Given the description of an element on the screen output the (x, y) to click on. 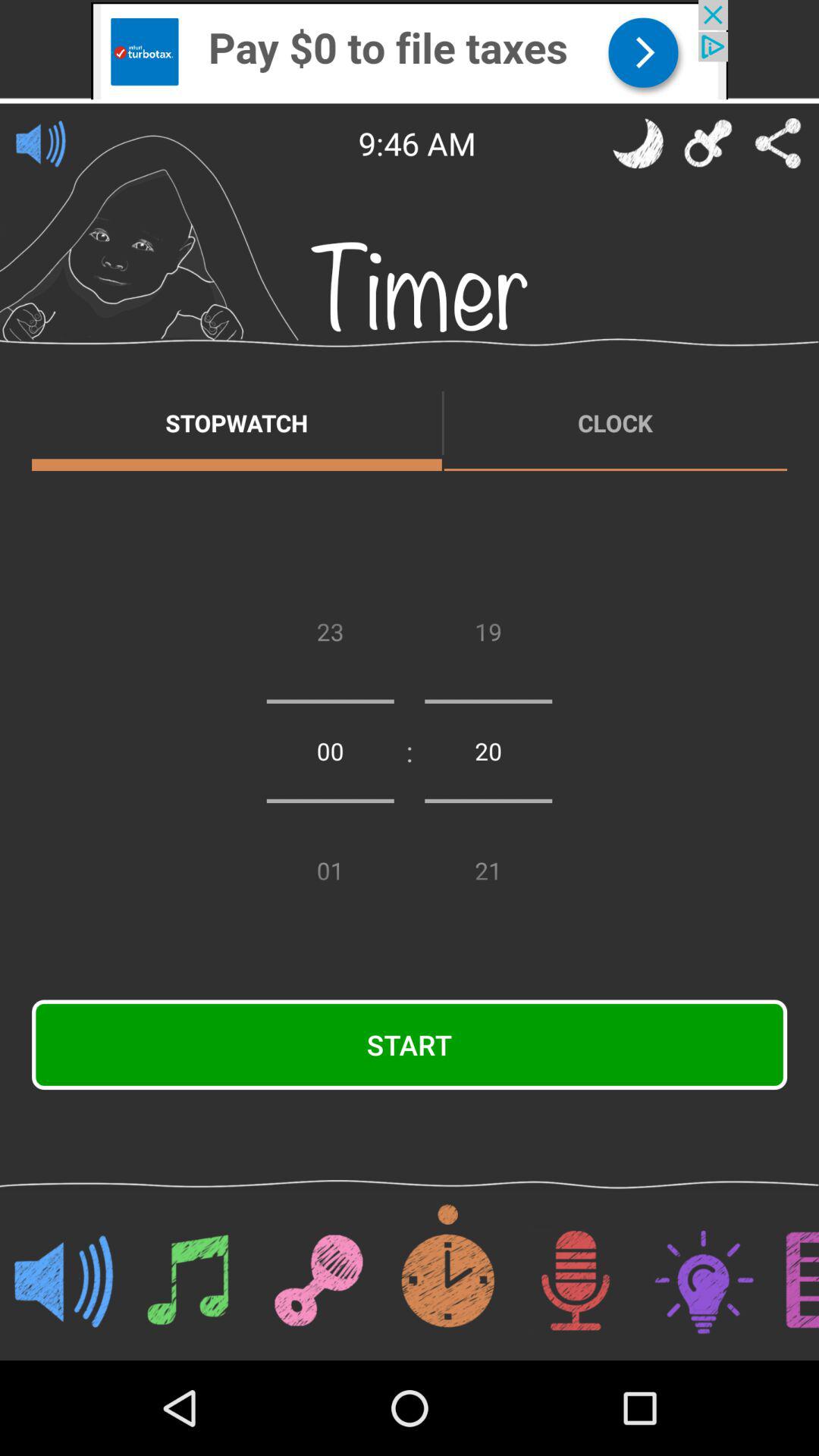
share the note (778, 143)
